Given the description of an element on the screen output the (x, y) to click on. 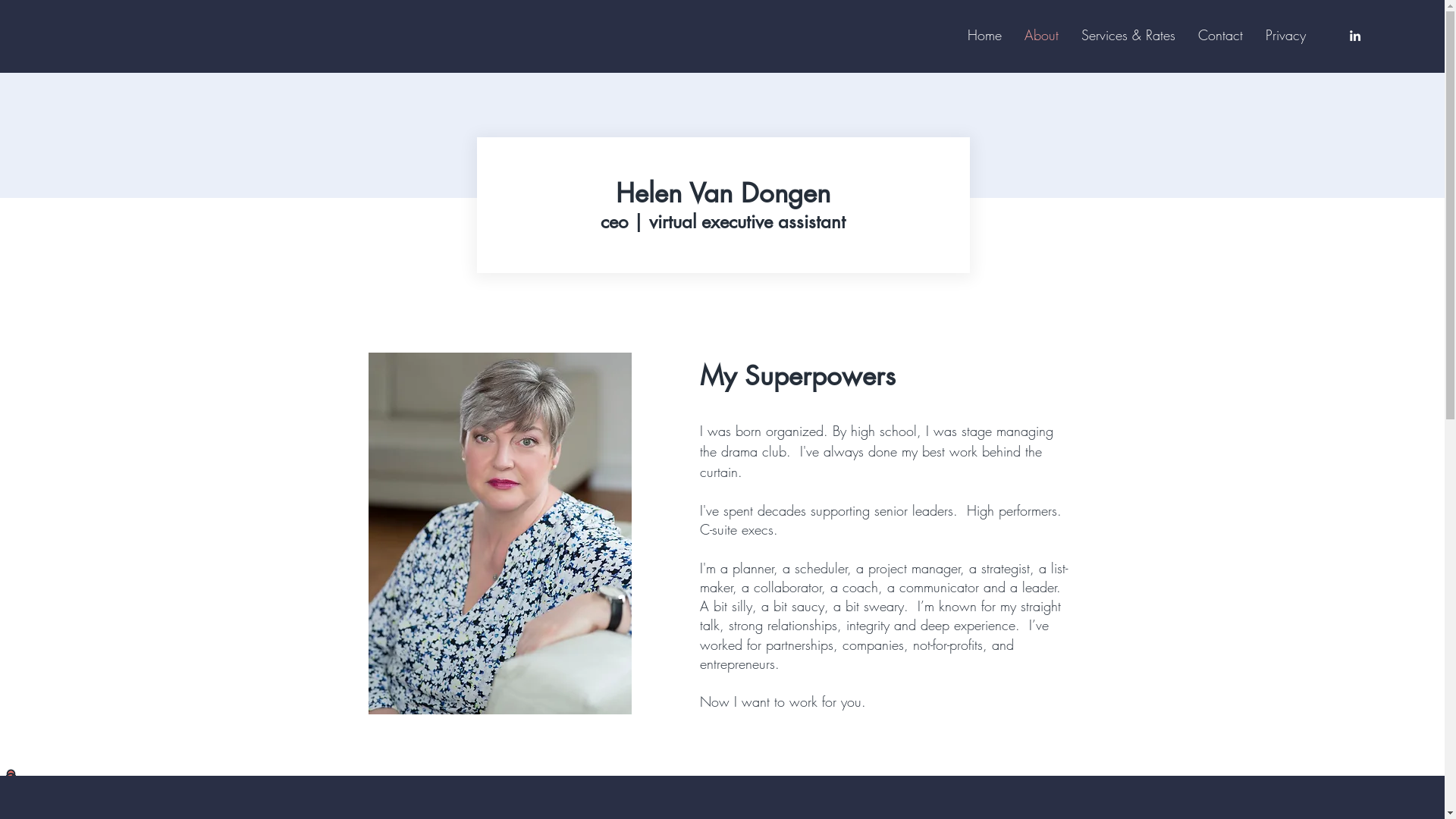
Privacy Element type: text (1285, 34)
Services & Rates Element type: text (1128, 34)
About Element type: text (1041, 34)
Contact Element type: text (1220, 34)
Home Element type: text (984, 34)
